Given the description of an element on the screen output the (x, y) to click on. 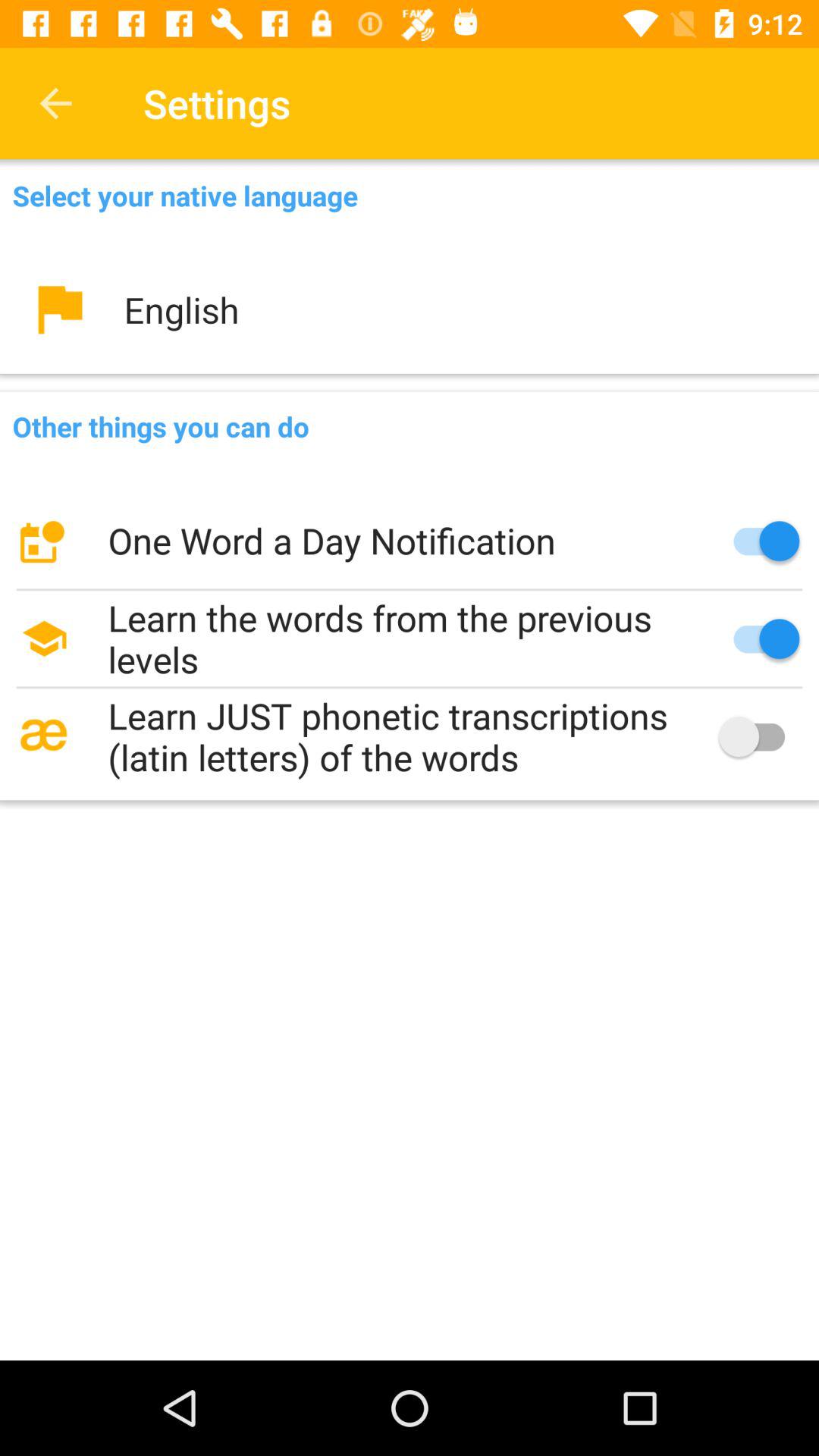
launch learn just phonetic (409, 736)
